Given the description of an element on the screen output the (x, y) to click on. 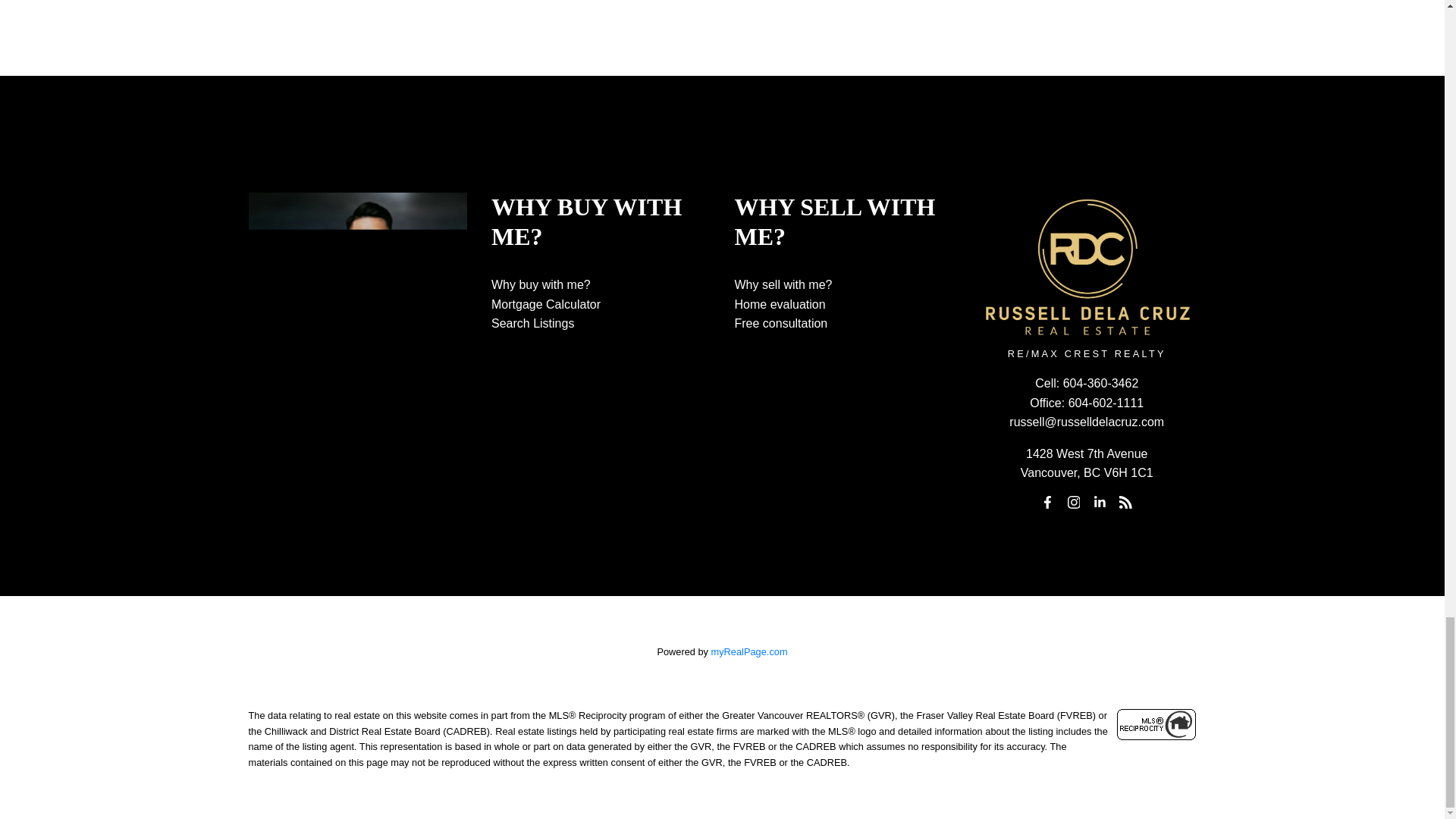
instagram (1073, 501)
Blog (1126, 501)
Facebook (1047, 501)
linkedin (1099, 501)
